Given the description of an element on the screen output the (x, y) to click on. 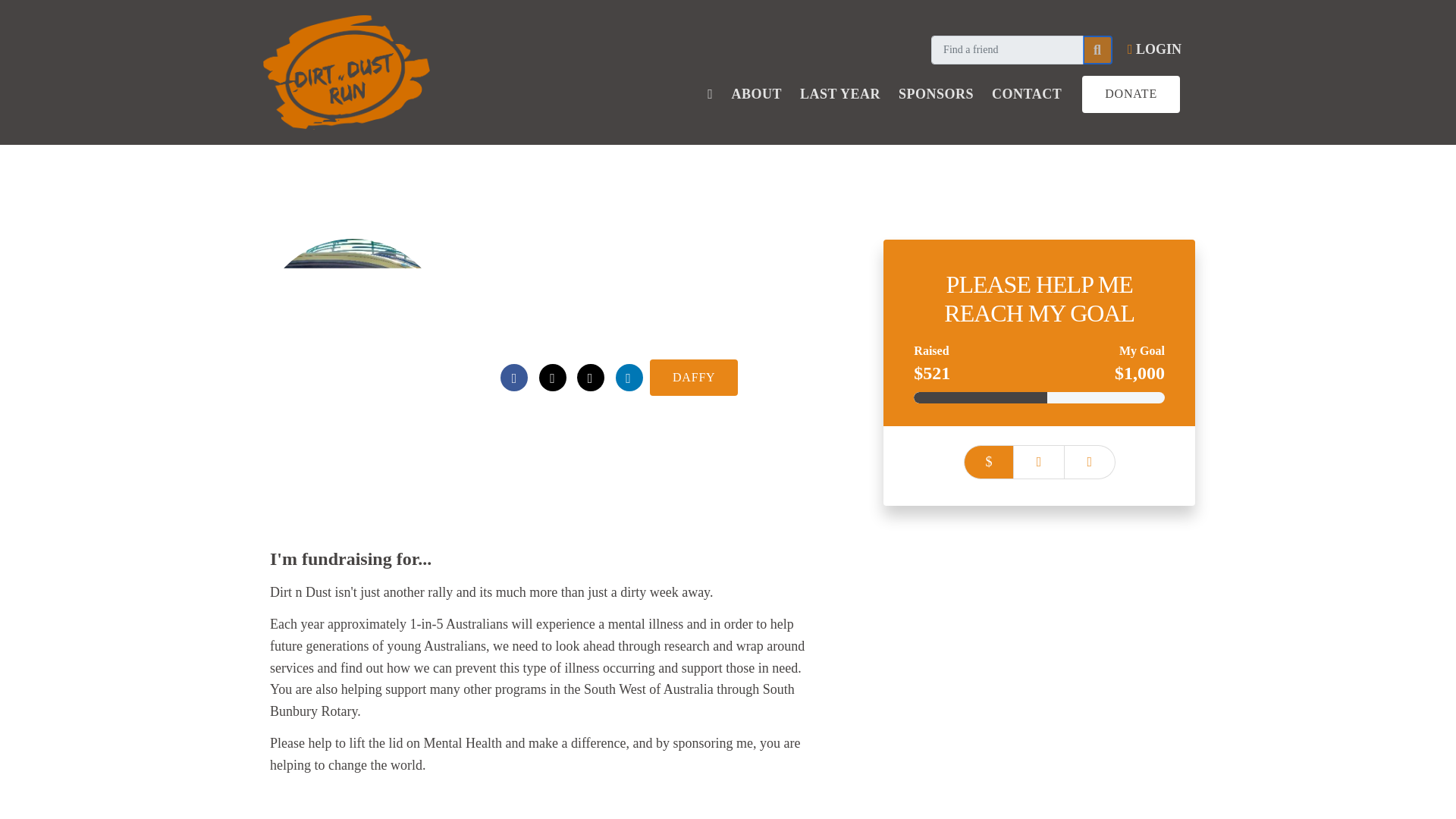
ABOUT (756, 94)
SPONSORS (935, 94)
Dirt N Dust 24 (537, 337)
DAFFY (693, 377)
LAST YEAR (839, 94)
LOGIN (1154, 49)
CONTACT (1026, 94)
DONATE (1130, 94)
